Given the description of an element on the screen output the (x, y) to click on. 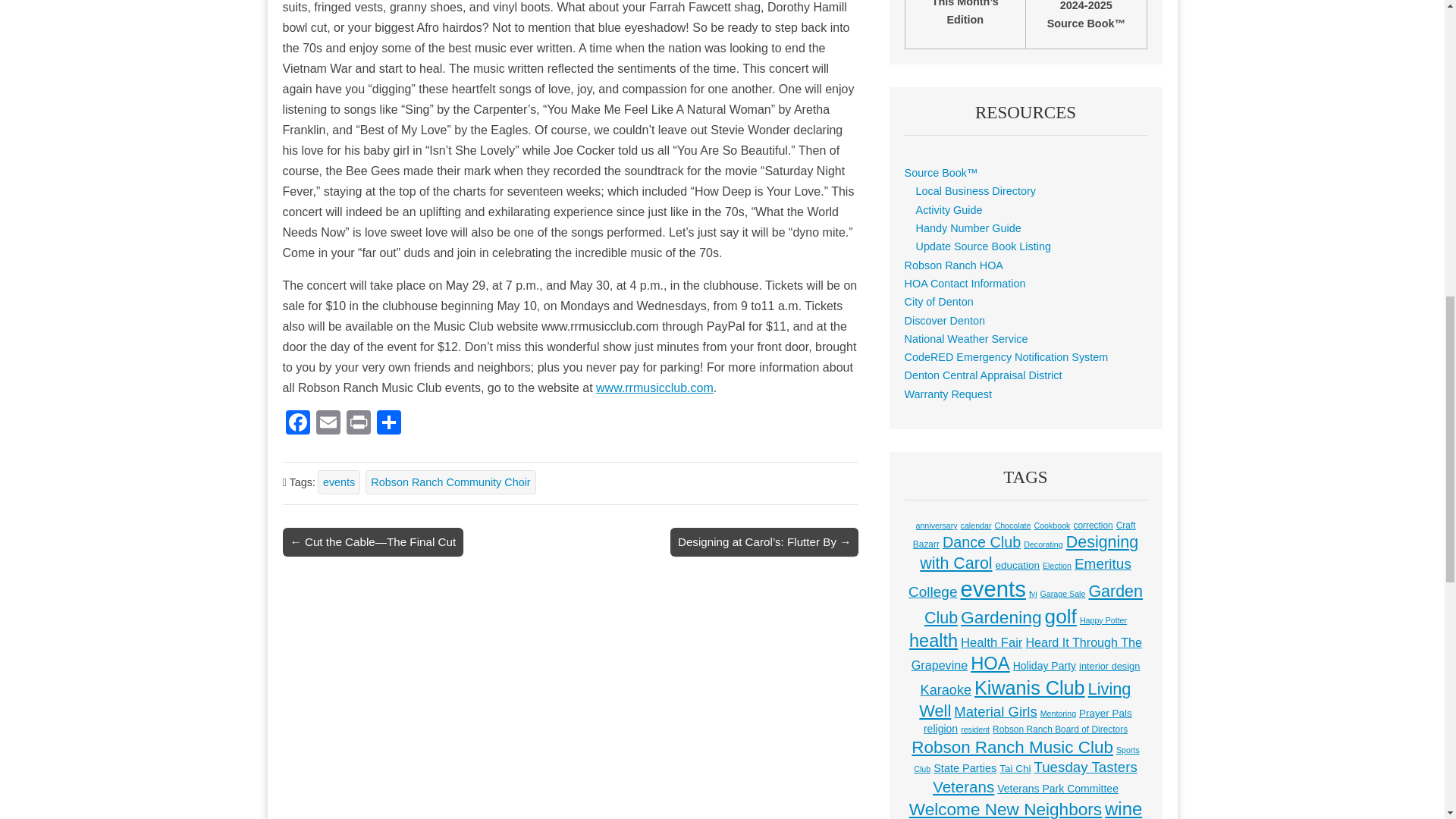
Print (357, 424)
Email (327, 424)
Email (327, 424)
events (338, 482)
Facebook (297, 424)
Facebook (297, 424)
Print (357, 424)
www.rrmusicclub.com (654, 387)
